Given the description of an element on the screen output the (x, y) to click on. 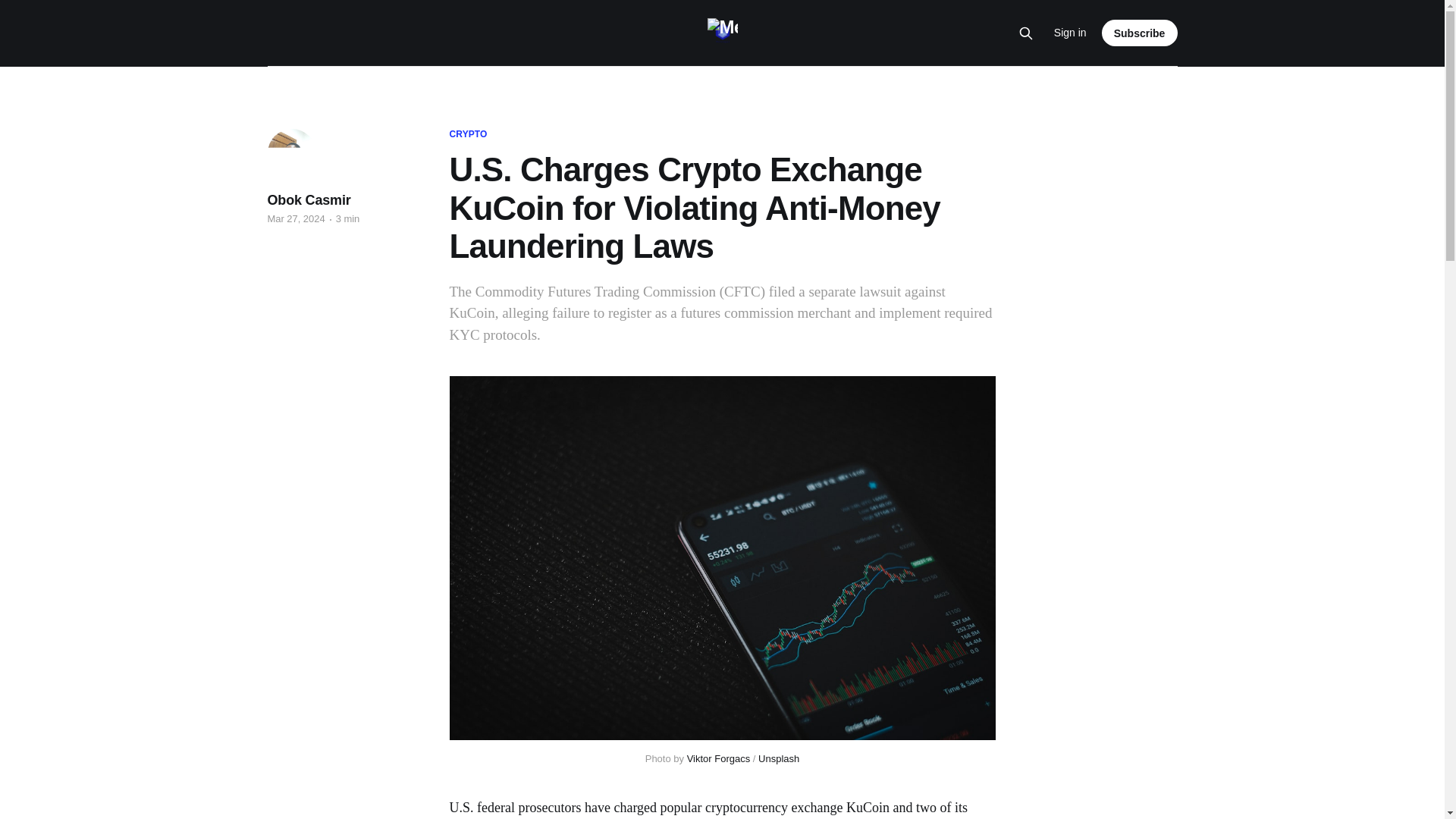
Sign in (1070, 32)
Unsplash (778, 758)
CRYPTO (467, 134)
Subscribe (1139, 32)
Obok Casmir (308, 199)
Viktor Forgacs (719, 758)
